Given the description of an element on the screen output the (x, y) to click on. 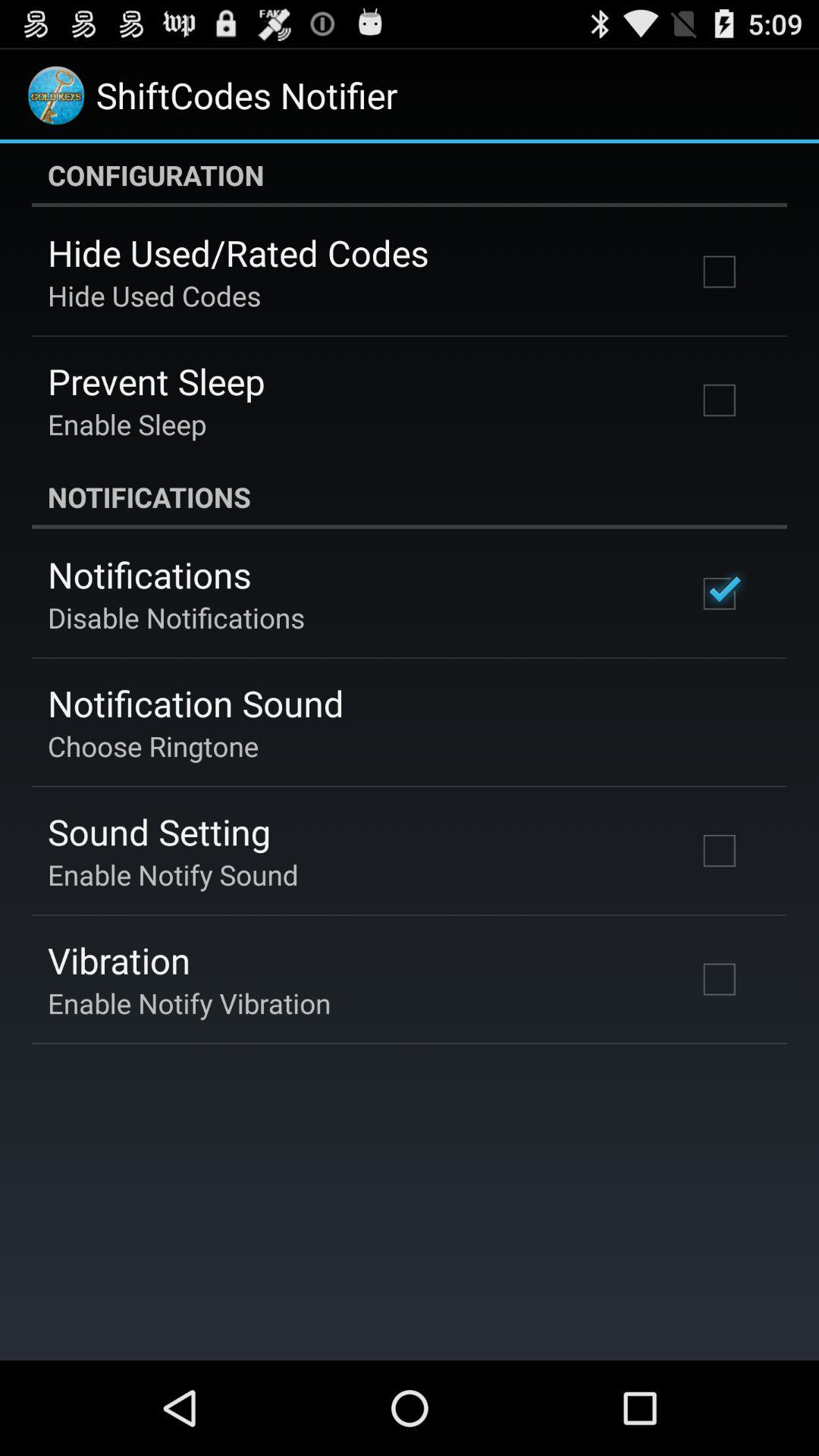
click on the tick check box (719, 594)
